Given the description of an element on the screen output the (x, y) to click on. 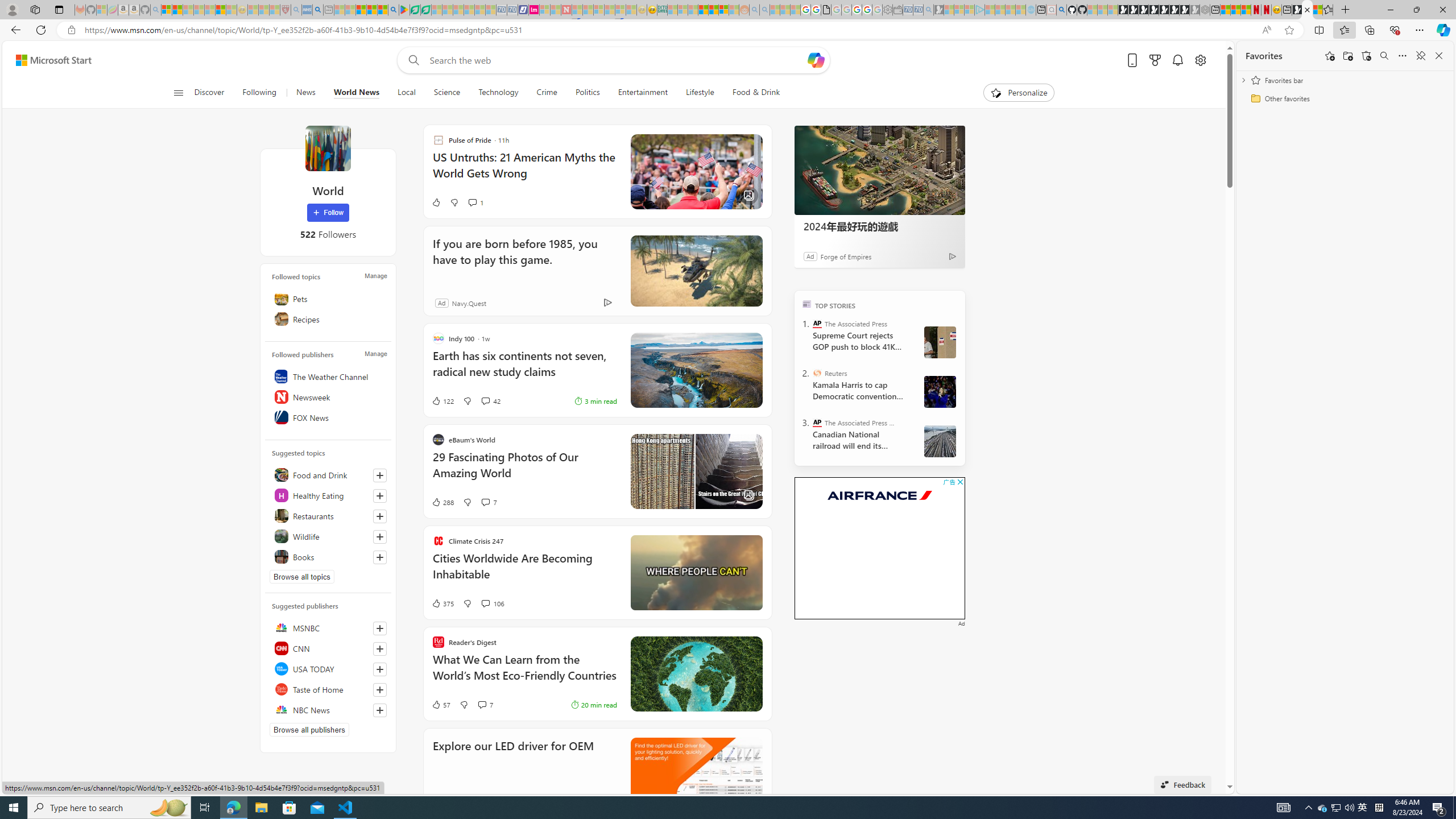
Jobs - lastminute.com Investor Portal (534, 9)
Web search (411, 60)
Wallet - Sleeping (897, 9)
google - Search (392, 9)
Recipes (327, 318)
View comments 7 Comment (485, 704)
Skip to footer (46, 59)
Explore our LED driver for OEMAdInventronics (596, 773)
